Given the description of an element on the screen output the (x, y) to click on. 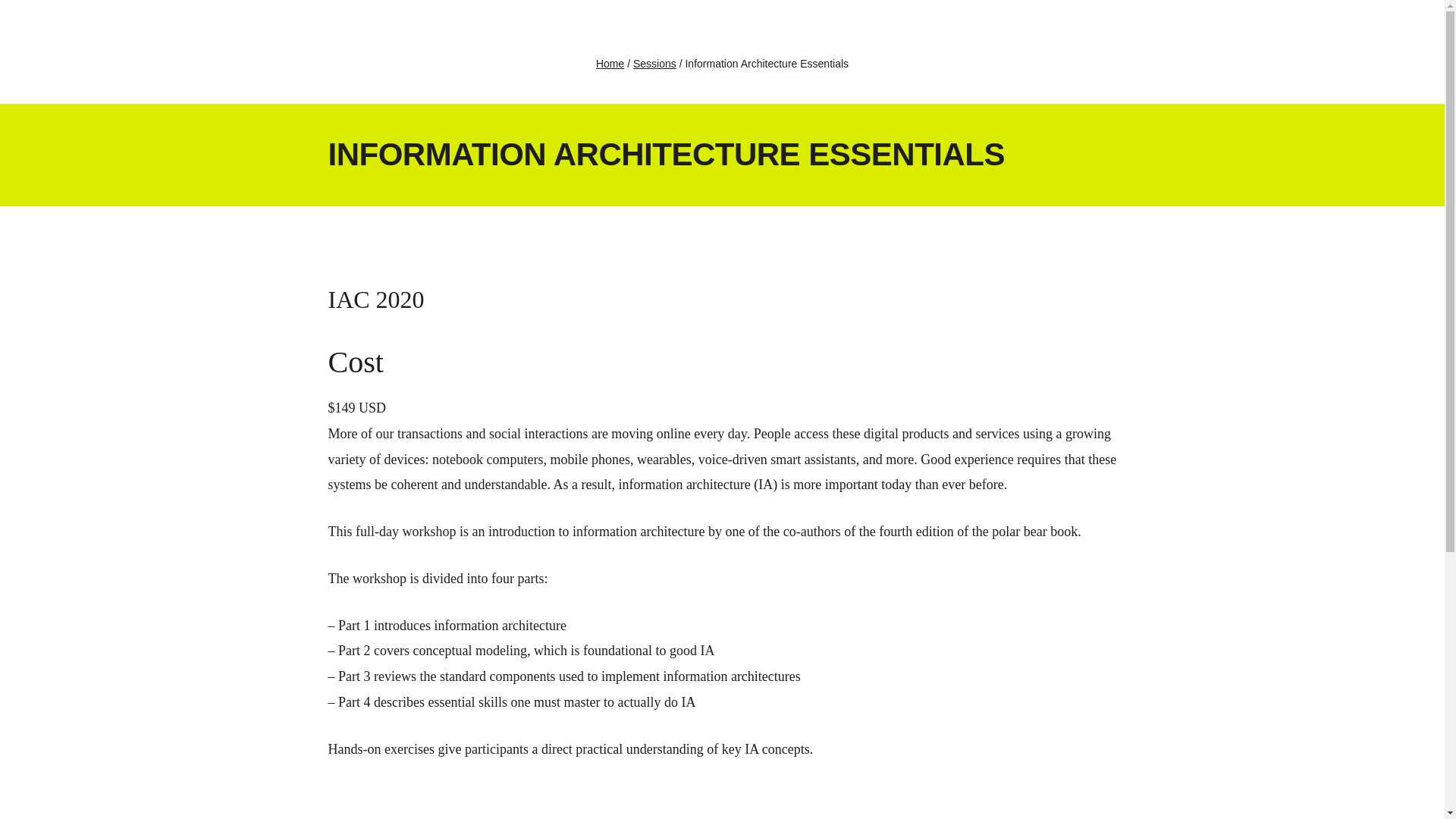
Home (609, 63)
Sessions (655, 63)
IAC: INFORMATION ARCHITECTURE CONFERENCE (90, 30)
